Given the description of an element on the screen output the (x, y) to click on. 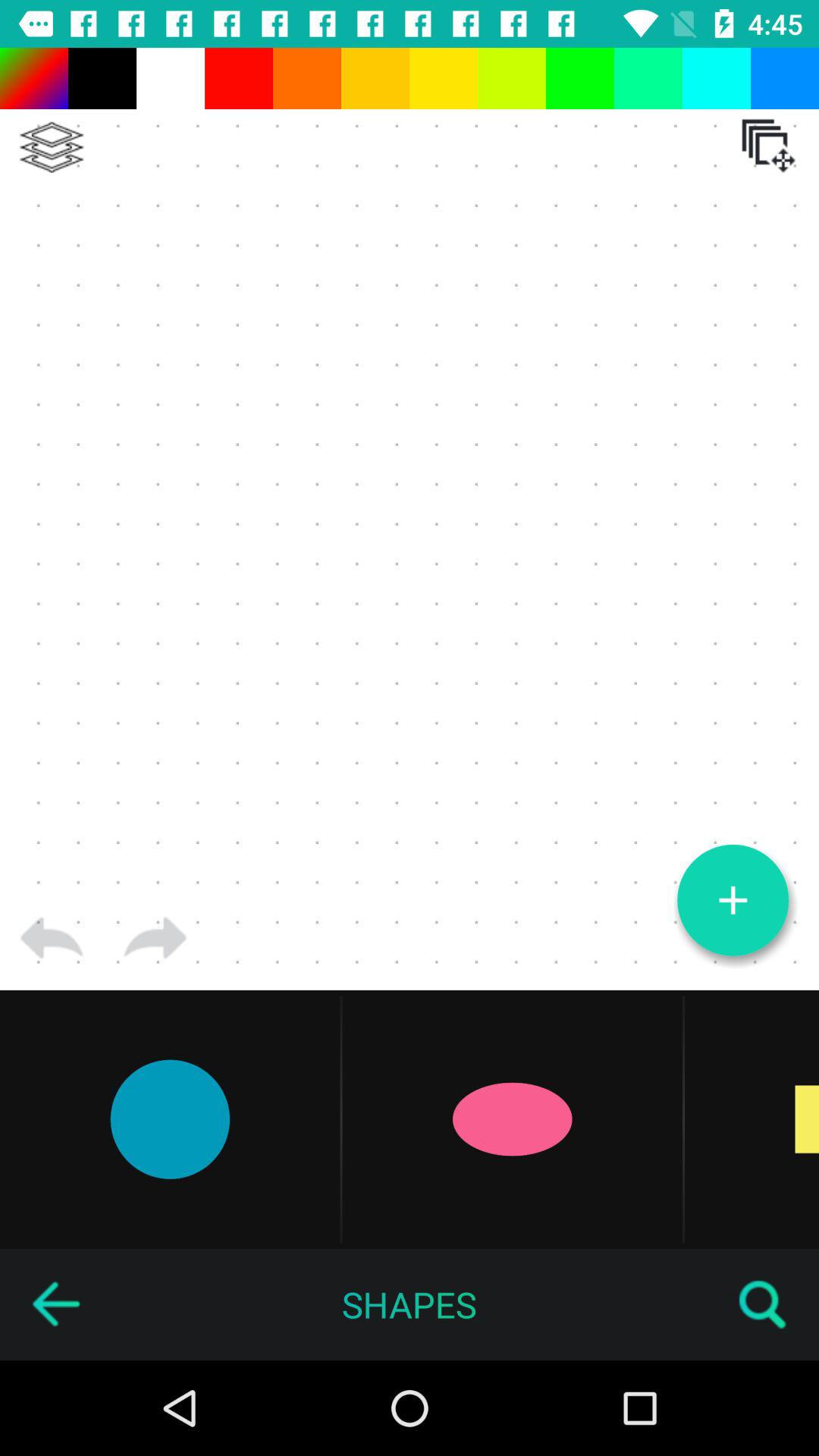
press the item to the left of the shapes (55, 1304)
